Given the description of an element on the screen output the (x, y) to click on. 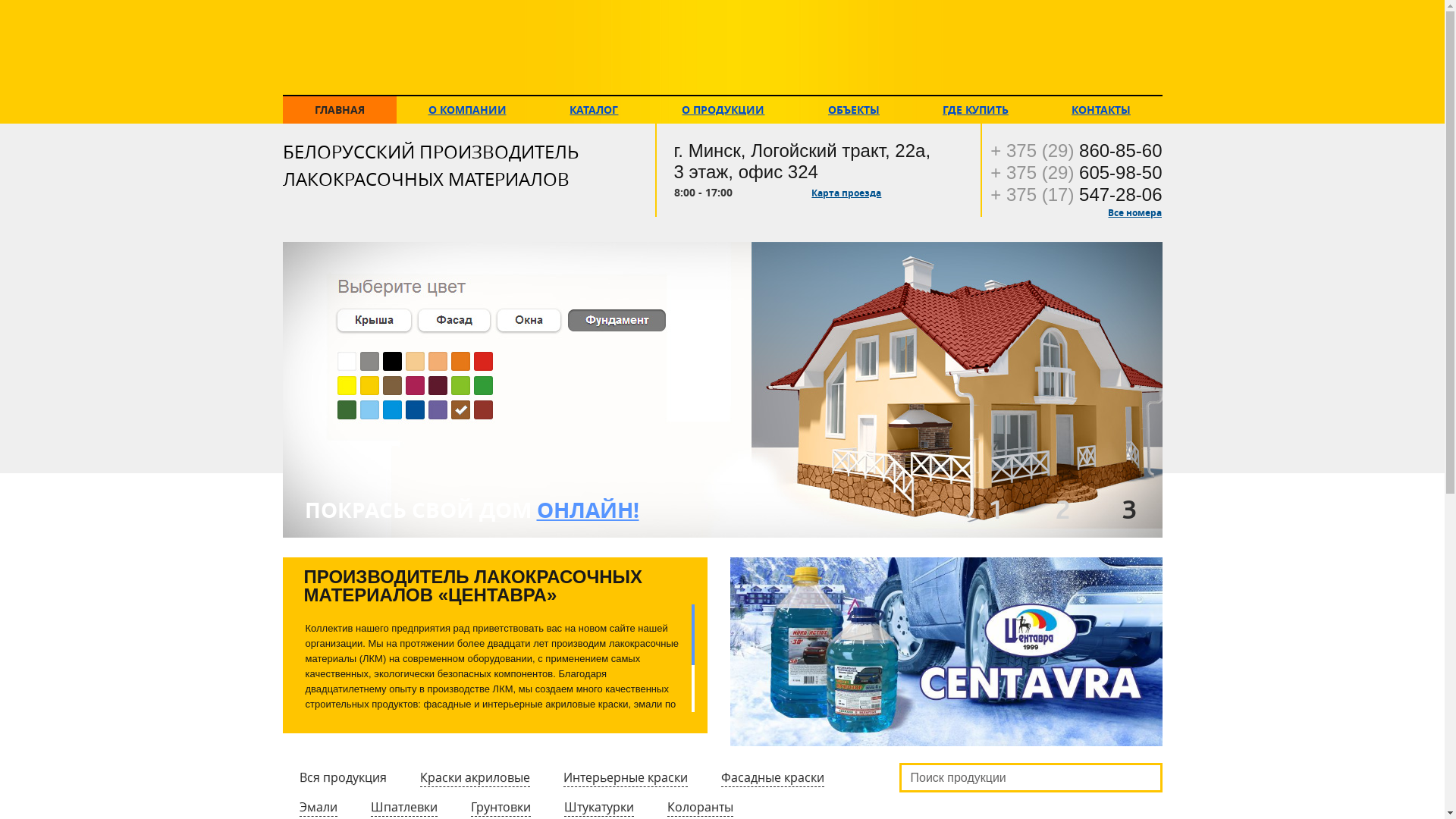
2 Element type: text (1062, 509)
3 Element type: text (1129, 509)
CENTAVRA Element type: text (719, 47)
1 Element type: text (996, 509)
